Given the description of an element on the screen output the (x, y) to click on. 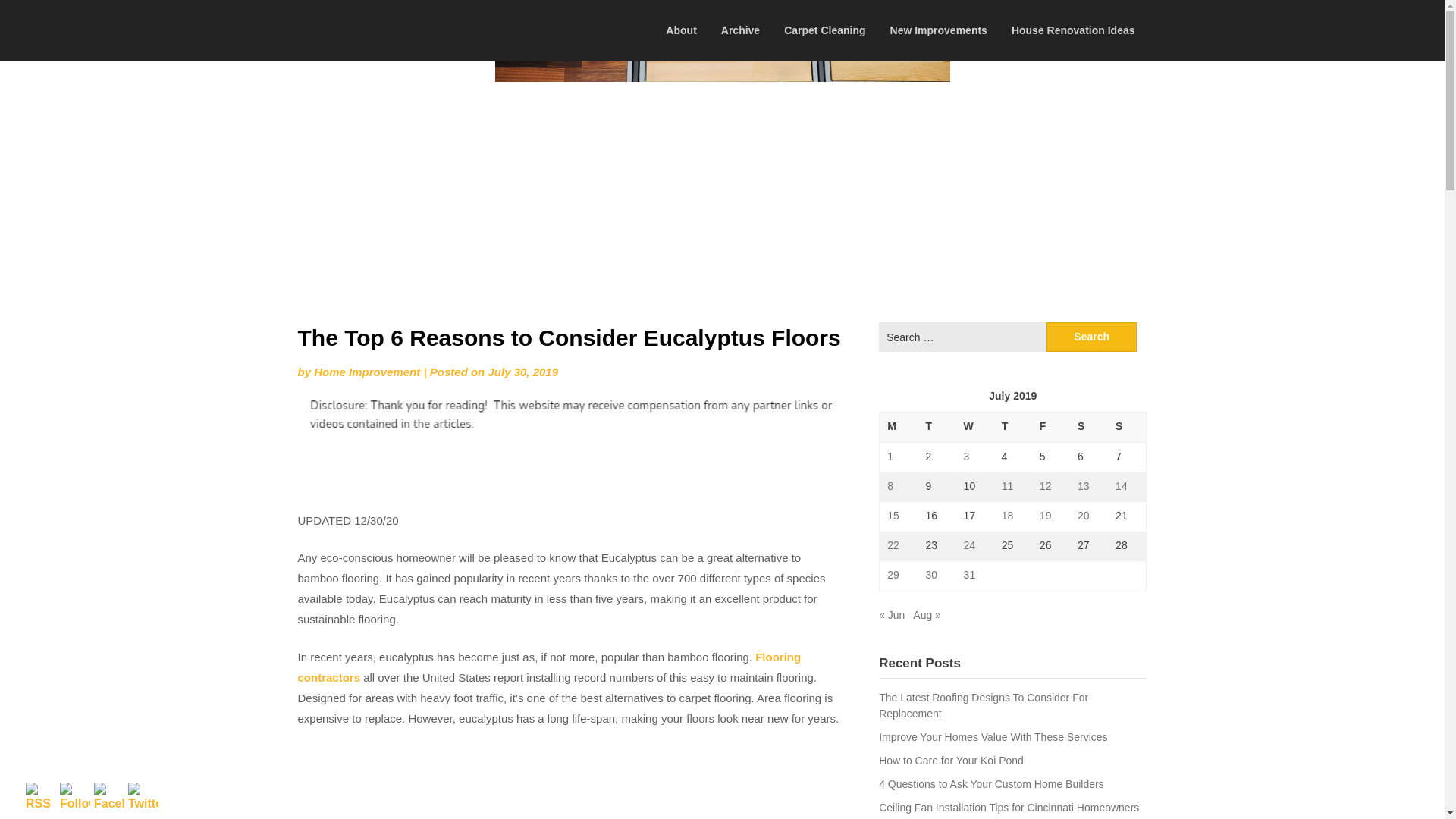
8 (889, 485)
New Improvements (937, 30)
14 (1120, 485)
1 (889, 456)
Search (1091, 337)
15 (892, 515)
Archive (740, 30)
Search (1091, 337)
Home Improvement (367, 371)
Tuesday (936, 427)
31 (969, 574)
12 (1045, 485)
Saturday (1089, 427)
